Given the description of an element on the screen output the (x, y) to click on. 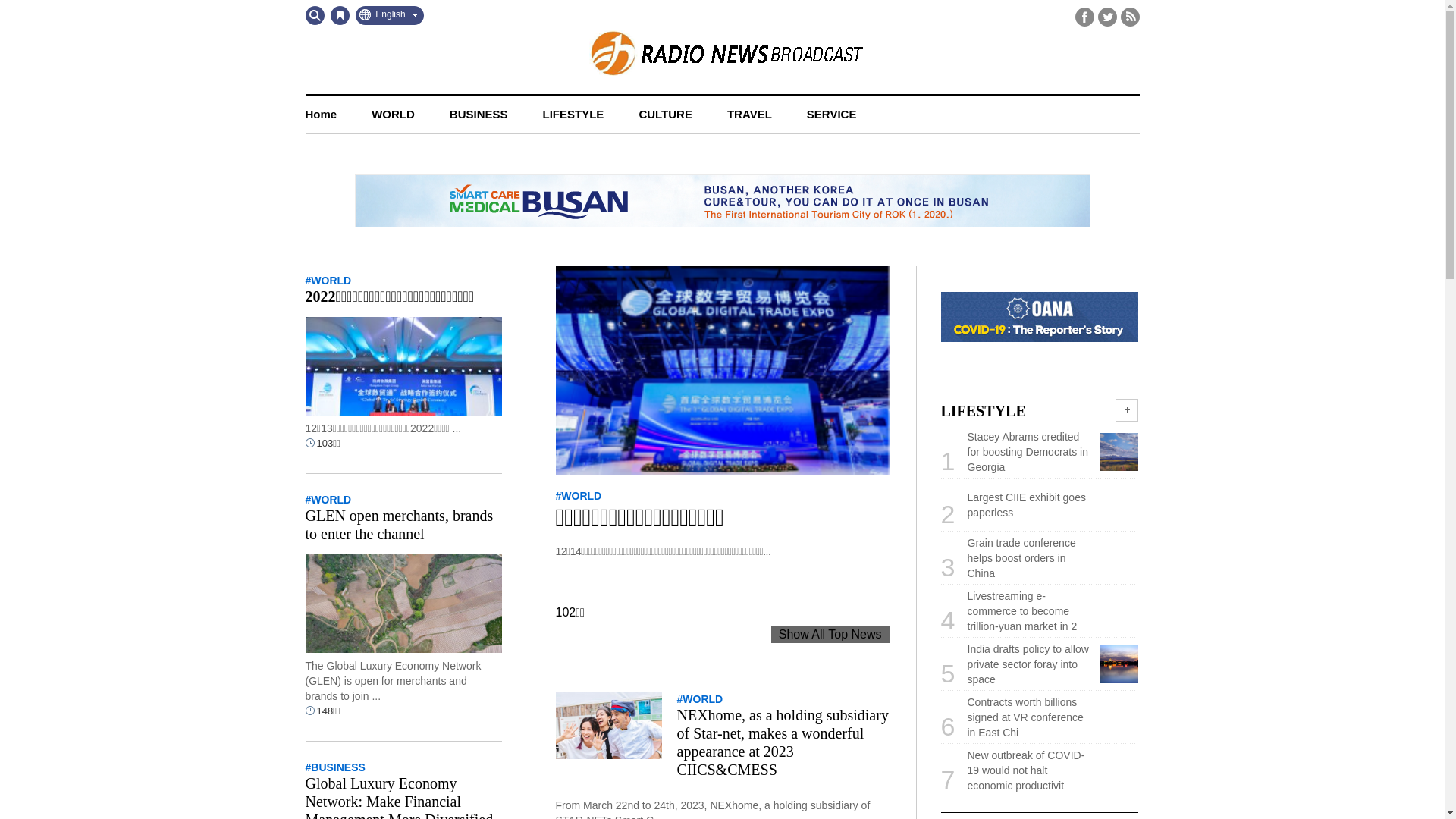
#BUSINESS Element type: text (334, 767)
Home Element type: text (320, 114)
RSS Feed Element type: text (1129, 16)
LIFESTYLE Element type: text (573, 114)
WORLD Element type: text (392, 114)
SEARCH Element type: text (313, 15)
#WORLD Element type: text (327, 280)
TRAVEL Element type: text (749, 114)
LIFESTYLE Element type: text (982, 410)
#WORLD Element type: text (578, 495)
CULTURE Element type: text (665, 114)
#WORLD Element type: text (327, 499)
History Element type: text (339, 15)
Facebook Element type: text (1084, 16)
English Element type: text (388, 15)
#WORLD Element type: text (699, 699)
GLEN open merchants, brands to enter the channel Element type: text (398, 524)
Twitter Element type: text (1107, 16)
Go to Contents Element type: text (0, 0)
BUSINESS Element type: text (478, 114)
SERVICE Element type: text (831, 114)
